Given the description of an element on the screen output the (x, y) to click on. 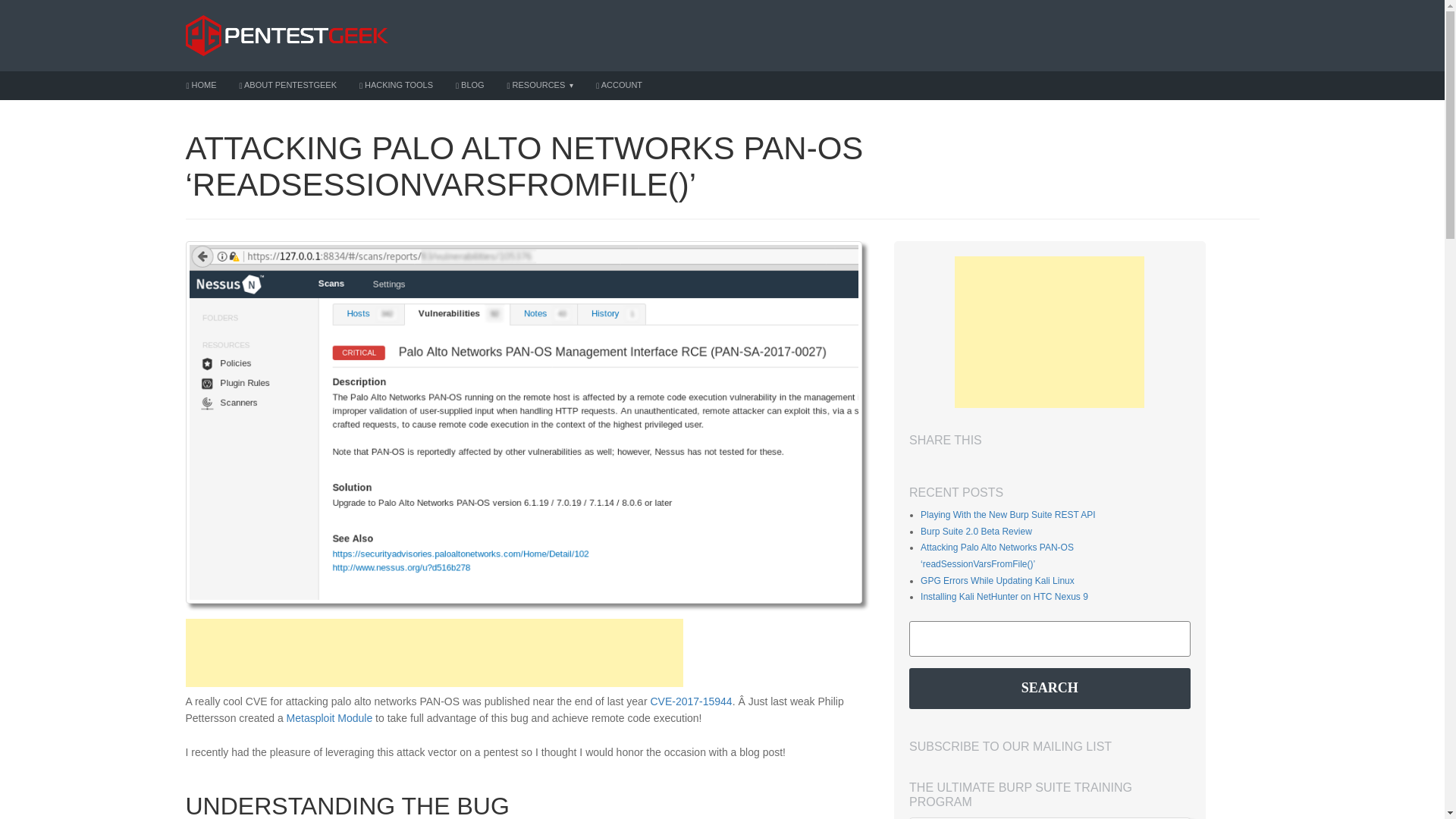
Search (1049, 688)
CVE-2017-15944 (690, 701)
HOME (200, 85)
BLOG (470, 85)
ABOUT PENTESTGEEK (287, 85)
ACCOUNT (619, 85)
HACKING TOOLS (395, 85)
Home (200, 85)
RESOURCES (540, 85)
Metasploit Module (329, 717)
